Given the description of an element on the screen output the (x, y) to click on. 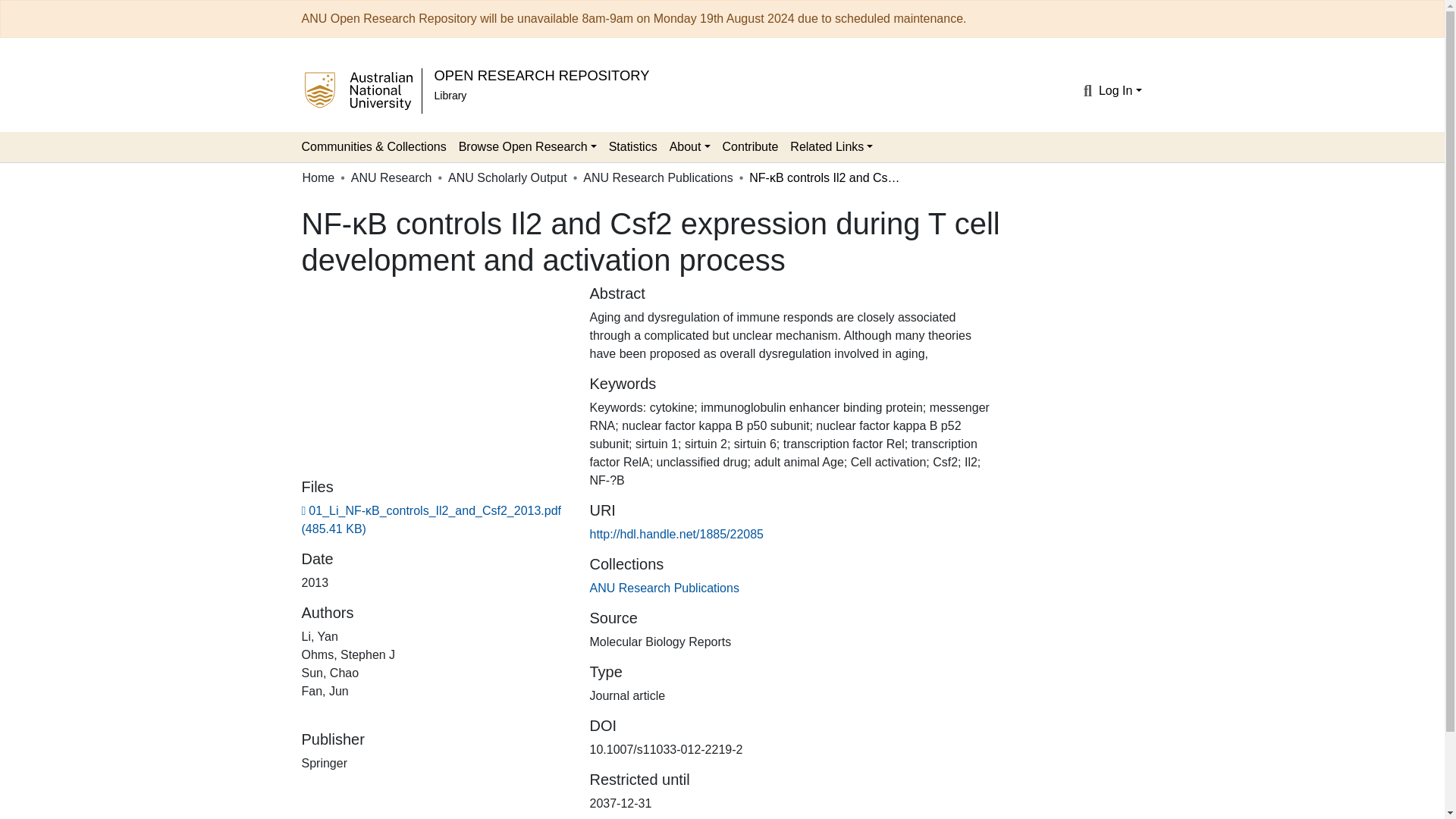
ANU Scholarly Output (507, 177)
Home (317, 177)
About (689, 146)
Related Links (831, 146)
Contribute (750, 146)
Contribute (750, 146)
Statistics (632, 146)
Browse Open Research (527, 146)
ANU Research Publications (663, 587)
Log In (1119, 90)
